Given the description of an element on the screen output the (x, y) to click on. 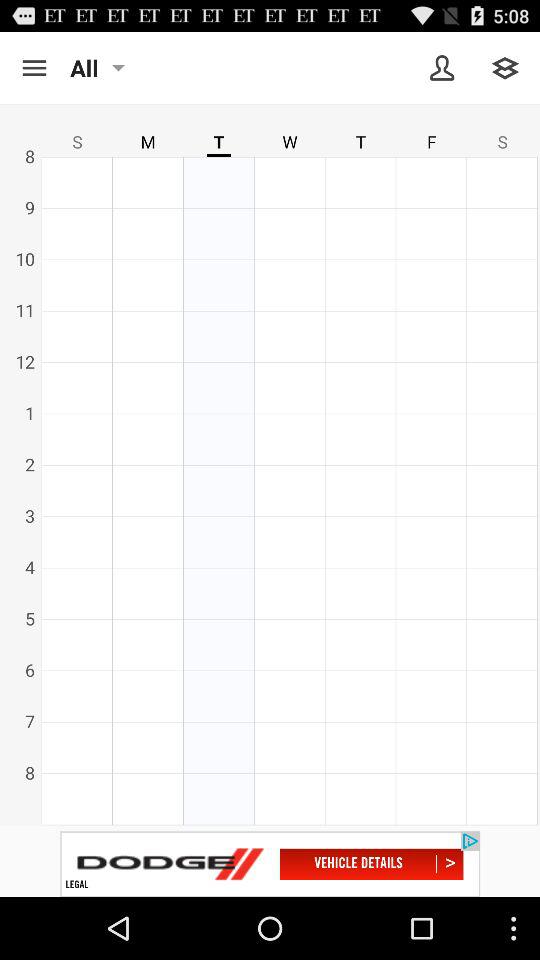
app option (34, 68)
